Given the description of an element on the screen output the (x, y) to click on. 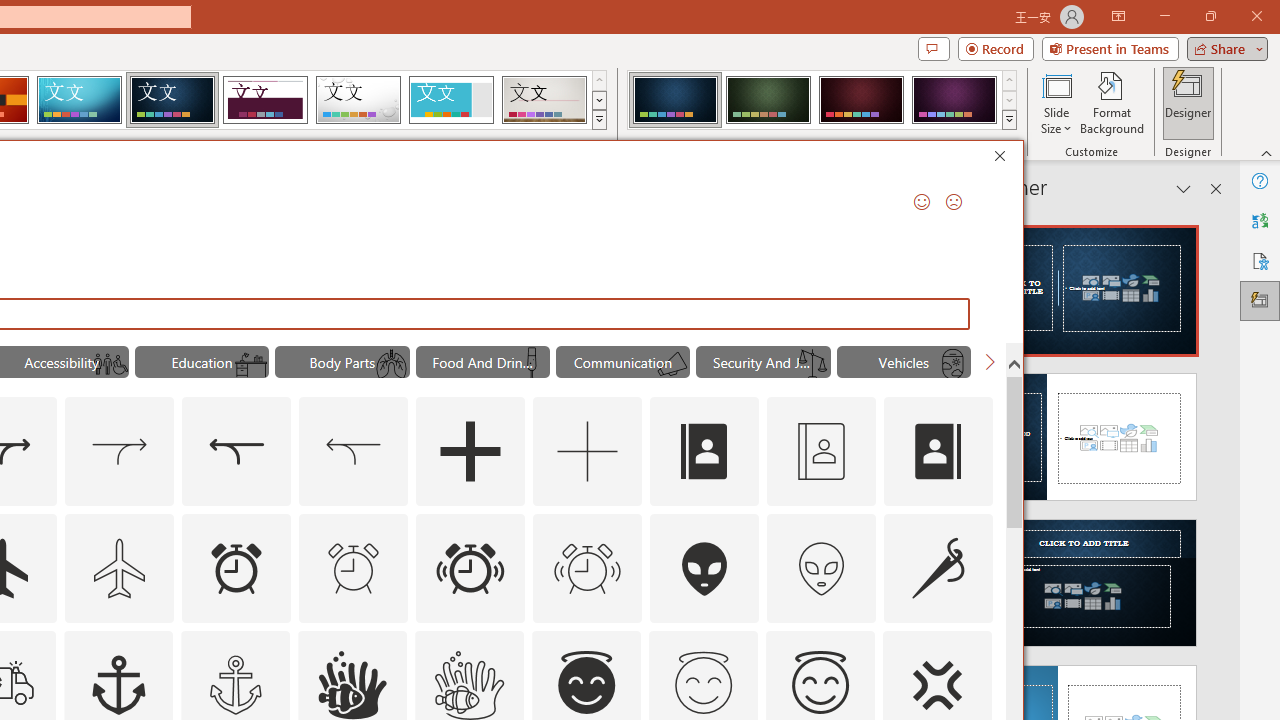
AutomationID: Icons_AddressBook_LTR (705, 452)
AutomationID: Icons_AlarmRinging_M (587, 568)
Themes (598, 120)
Send a Smile (922, 201)
AutomationID: Icons_Airplane_M (120, 568)
AutomationID: Icons (703, 683)
AutomationID: Icons_AlienFace (705, 568)
AutomationID: Icons_AlarmClock (236, 568)
Send a Frown (954, 201)
